Given the description of an element on the screen output the (x, y) to click on. 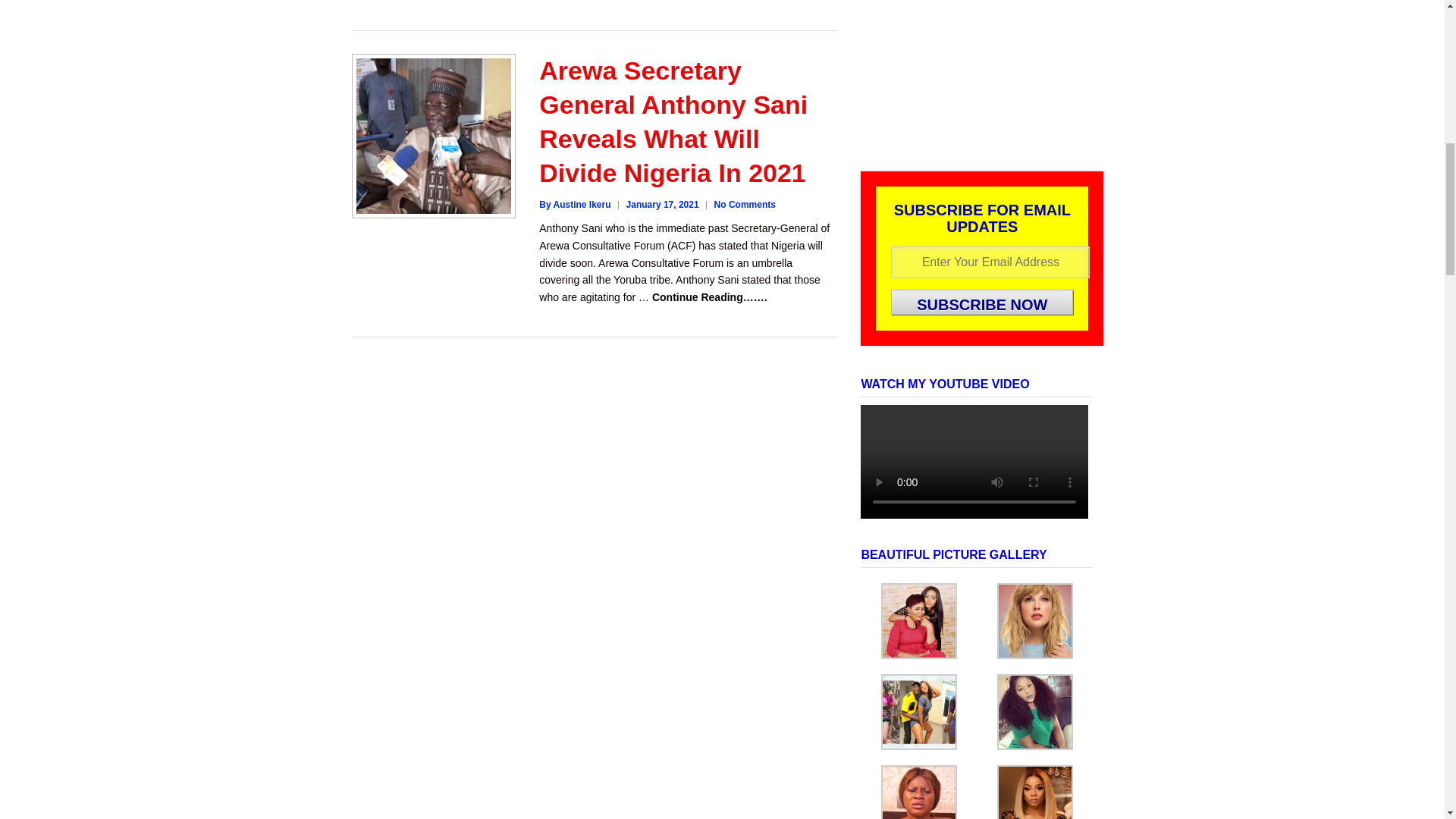
By Austine Ikeru (574, 204)
Advertisement (976, 71)
SUBSCRIBE NOW (982, 301)
No Comments (745, 204)
Austine Ikeru (574, 204)
SUBSCRIBE NOW (982, 301)
